Given the description of an element on the screen output the (x, y) to click on. 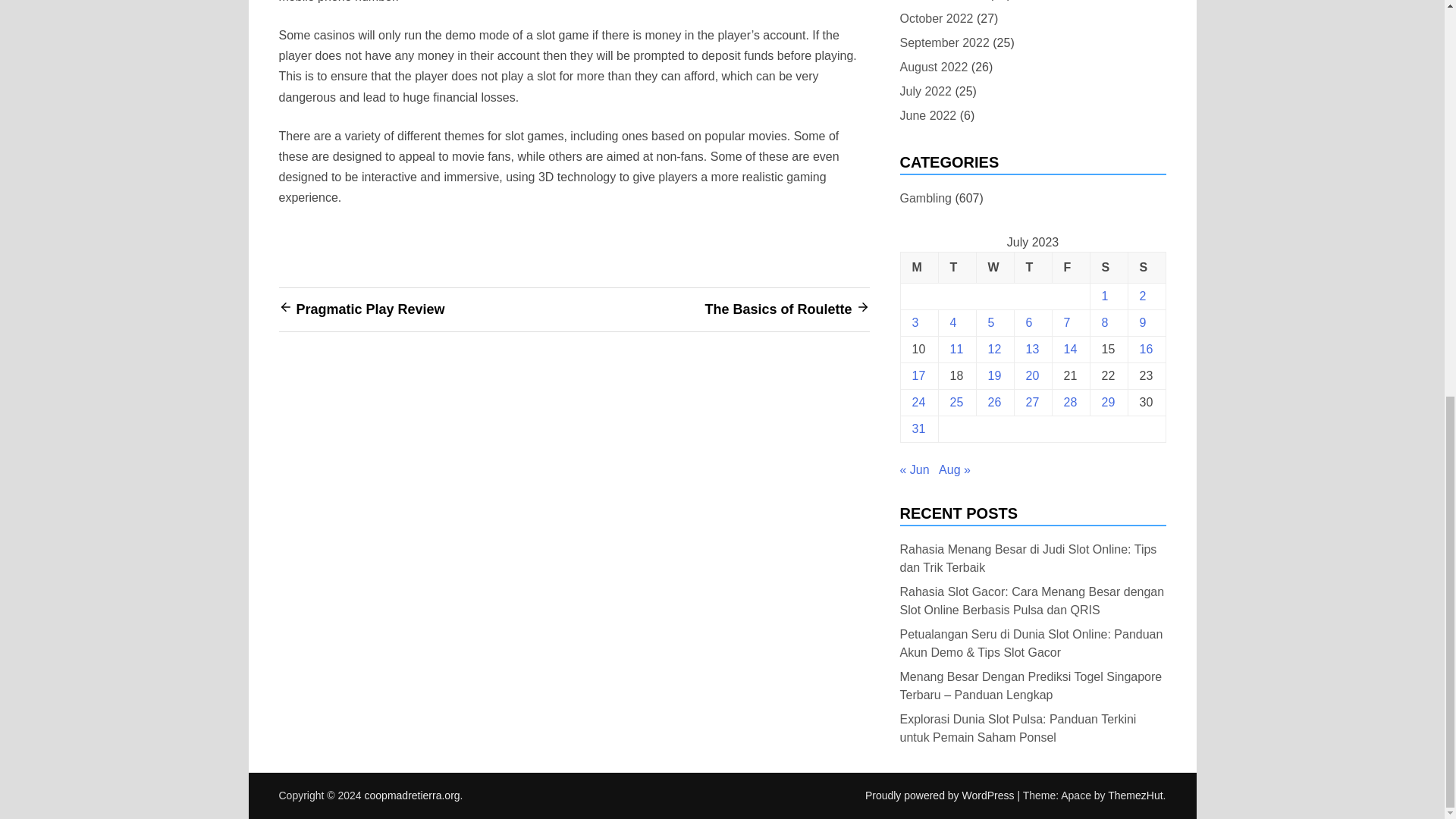
Pragmatic Play Review (369, 308)
August 2022 (933, 66)
Saturday (1107, 267)
Wednesday (994, 267)
The Basics of Roulette (777, 308)
Sunday (1146, 267)
October 2022 (935, 18)
July 2022 (925, 91)
Gambling (924, 198)
coopmadretierra.org (412, 795)
Thursday (1032, 267)
November 2022 (942, 2)
September 2022 (943, 42)
June 2022 (927, 115)
Tuesday (956, 267)
